Given the description of an element on the screen output the (x, y) to click on. 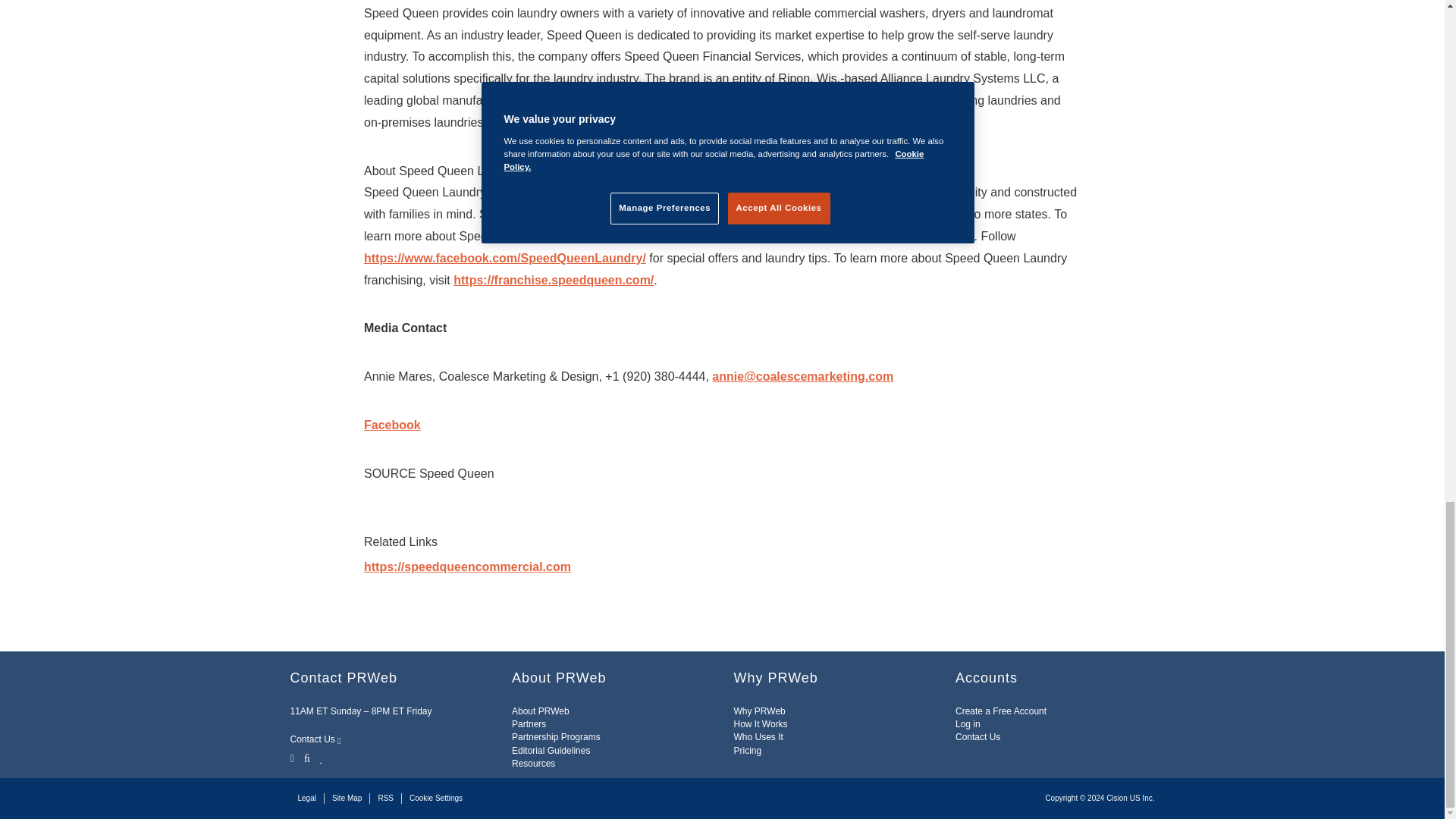
Partnership Programs (555, 737)
Partners (529, 724)
About PRWeb (540, 710)
Why PRWeb (759, 710)
How It Works (760, 724)
Facebook (306, 757)
Editorial Guidelines (550, 750)
Resources (533, 763)
